Given the description of an element on the screen output the (x, y) to click on. 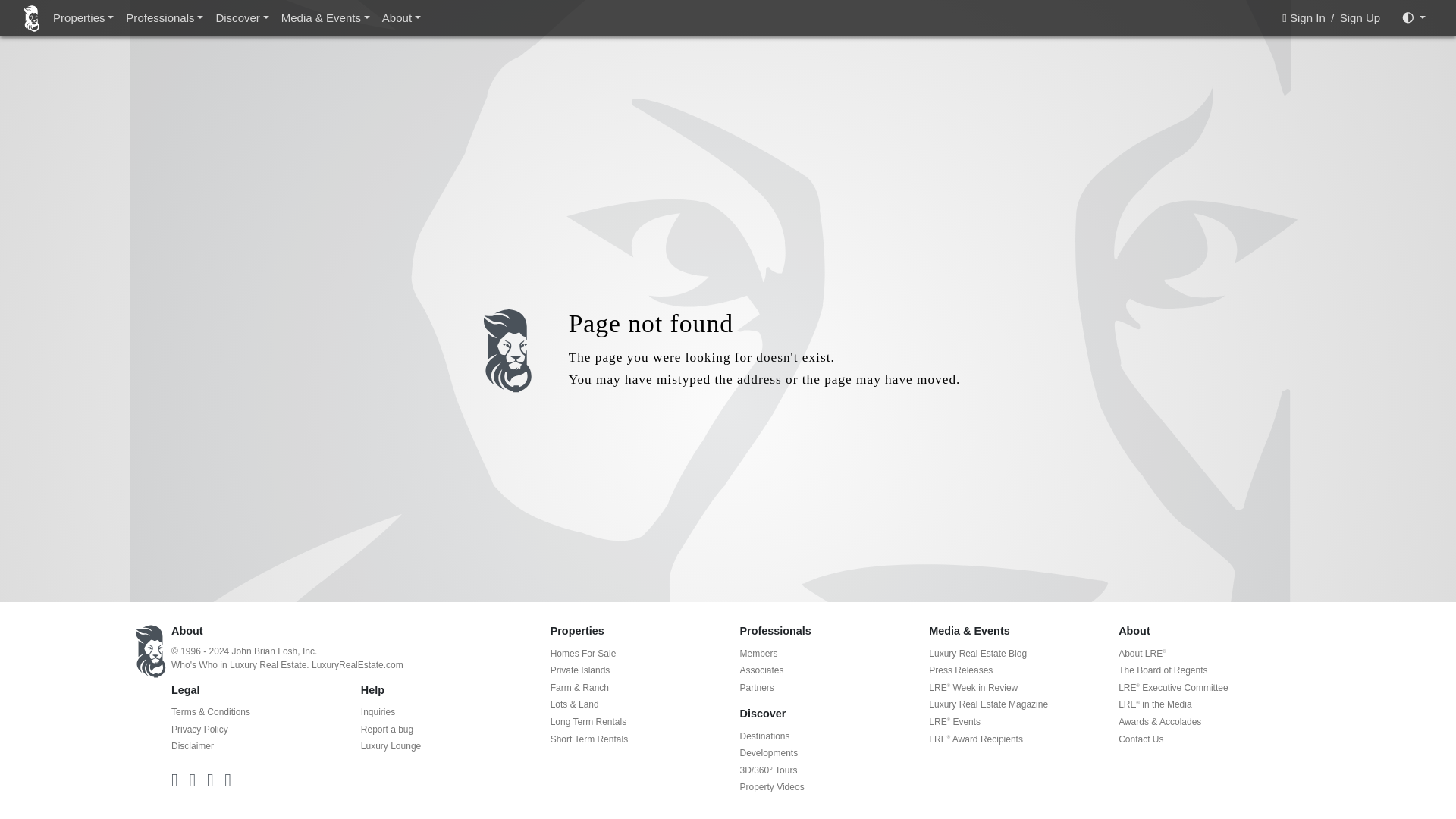
Sign In (1305, 17)
Privacy Policy (199, 728)
Discover (242, 18)
About (400, 18)
Properties (82, 18)
Inquiries (377, 711)
Disclaimer (192, 746)
Sign Up (1359, 17)
Professionals (164, 18)
